Given the description of an element on the screen output the (x, y) to click on. 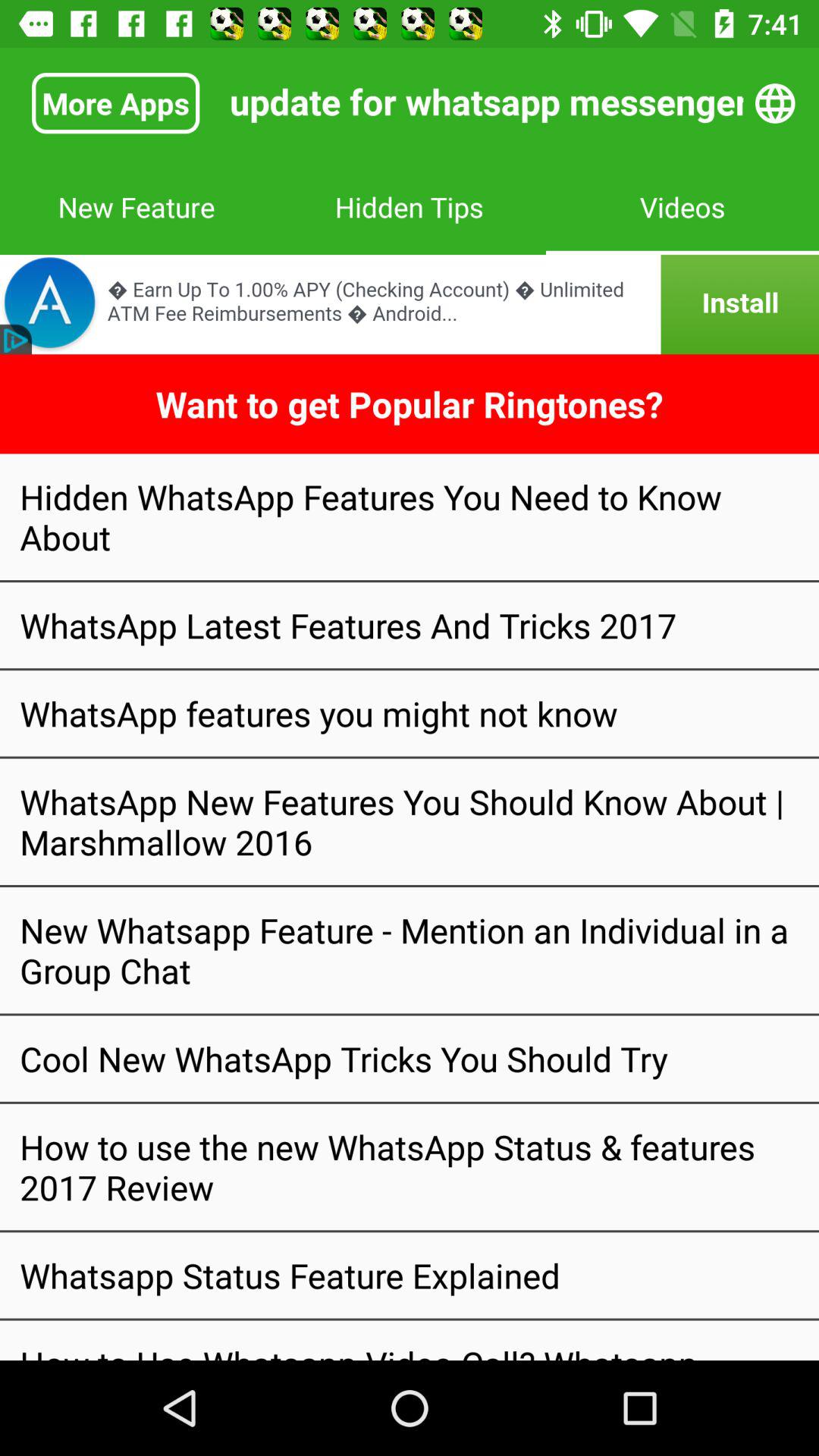
use global settings (775, 103)
